Given the description of an element on the screen output the (x, y) to click on. 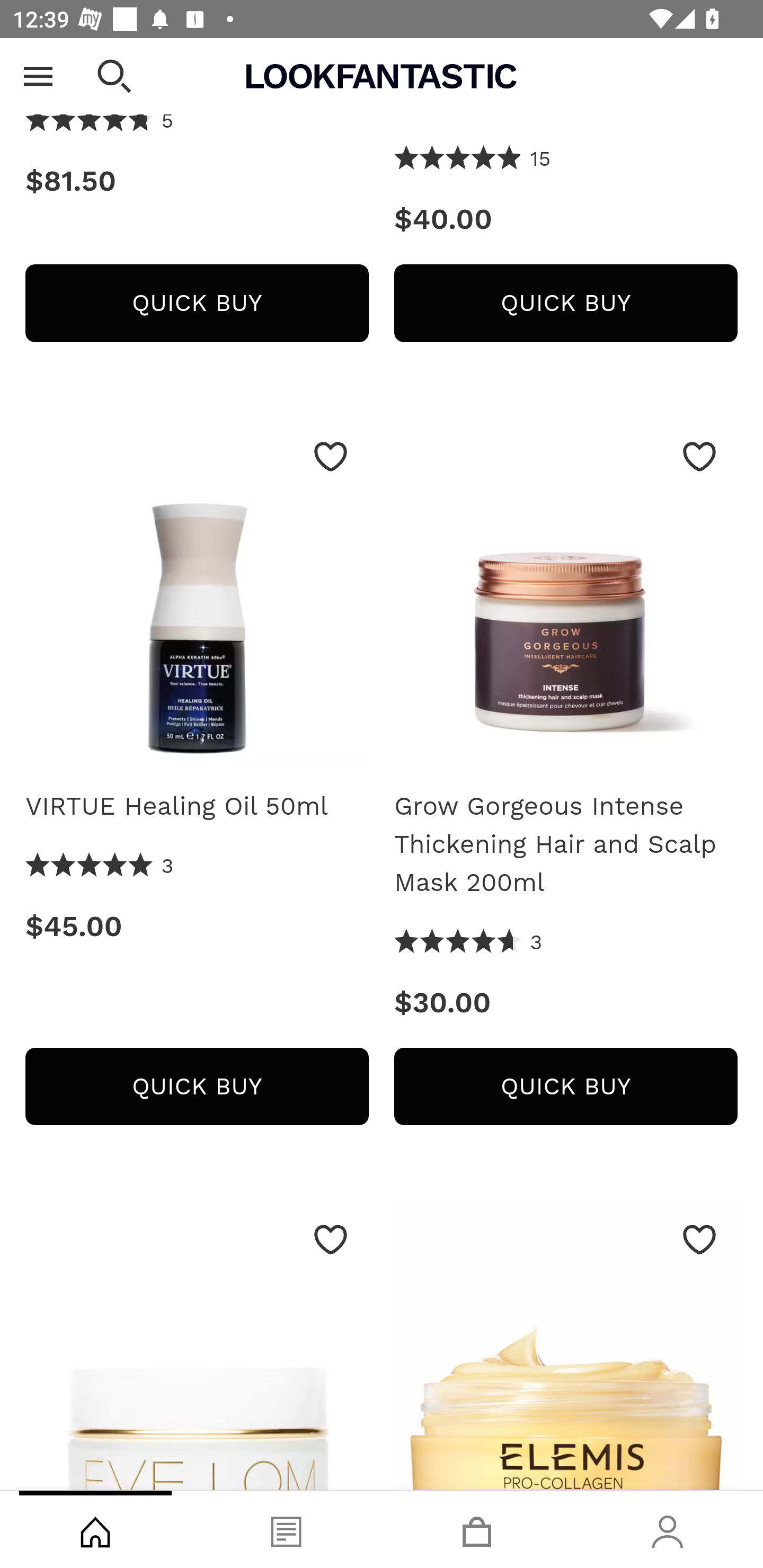
4.8 Stars 5 Reviews (99, 122)
4.93 Stars 15 Reviews (472, 161)
Price: $81.50 (196, 182)
Price: $40.00 (565, 220)
QUICK BUY MEDIK8 HYDR8 B5 INTENSE 30ML (196, 303)
VIRTUE Healing Oil 50ml (196, 597)
Save to Wishlist (330, 456)
Save to Wishlist (698, 456)
VIRTUE Healing Oil 50ml (196, 806)
5.0 Stars 3 Reviews (99, 866)
Price: $45.00 (196, 927)
4.67 Stars 3 Reviews (468, 942)
Price: $30.00 (565, 1003)
QUICK BUY VIRTUE HEALING OIL 50ML (196, 1087)
Eve Lom Moisture Mask - 3.5oz (196, 1346)
Elemis Pro-Collagen Cleansing Balm 100g (565, 1346)
Save to Wishlist (330, 1240)
Save to Wishlist (698, 1240)
Shop, tab, 1 of 4 (95, 1529)
Blog, tab, 2 of 4 (285, 1529)
Basket, tab, 3 of 4 (476, 1529)
Account, tab, 4 of 4 (667, 1529)
